Given the description of an element on the screen output the (x, y) to click on. 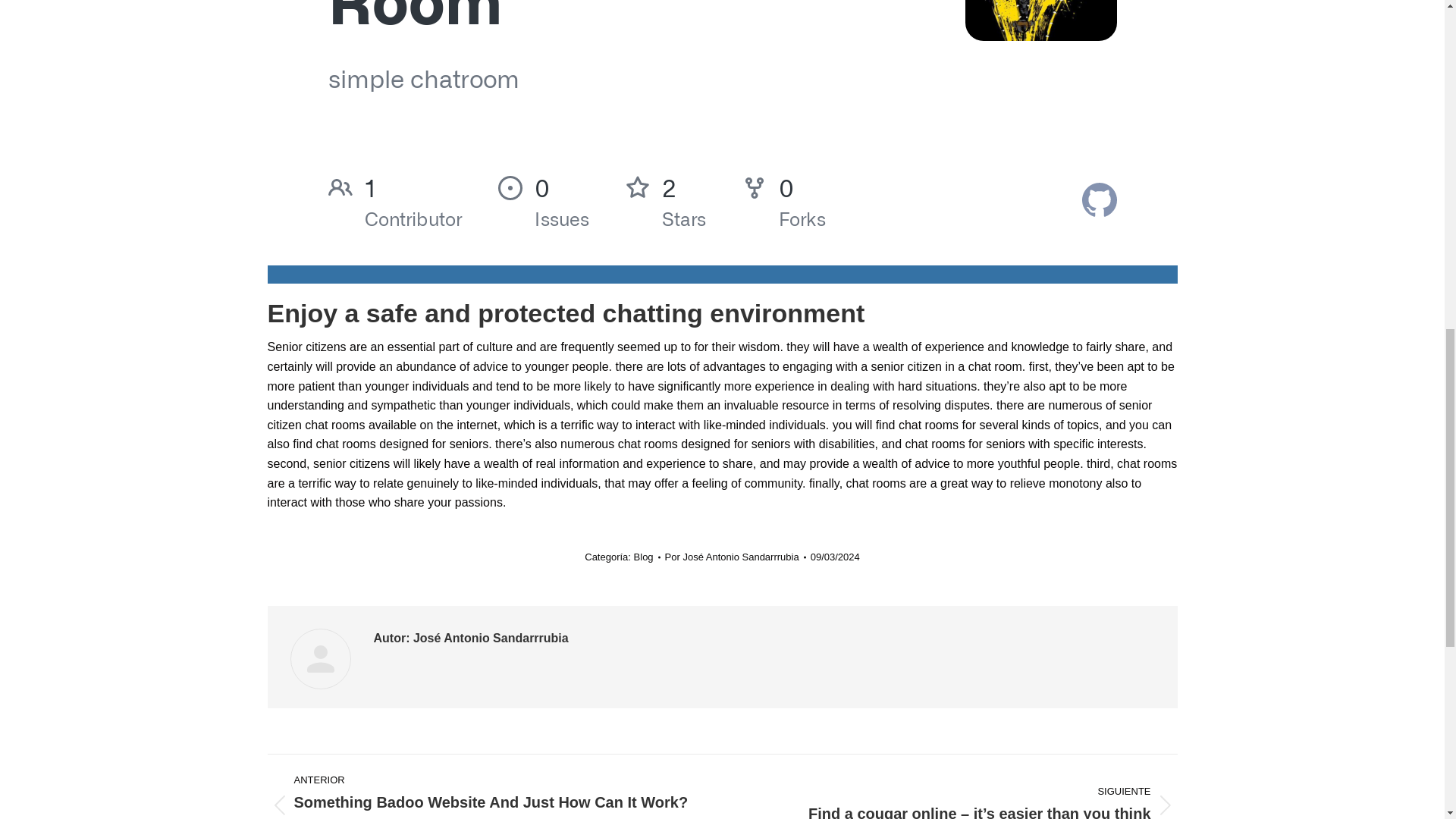
19:12 (835, 557)
